Given the description of an element on the screen output the (x, y) to click on. 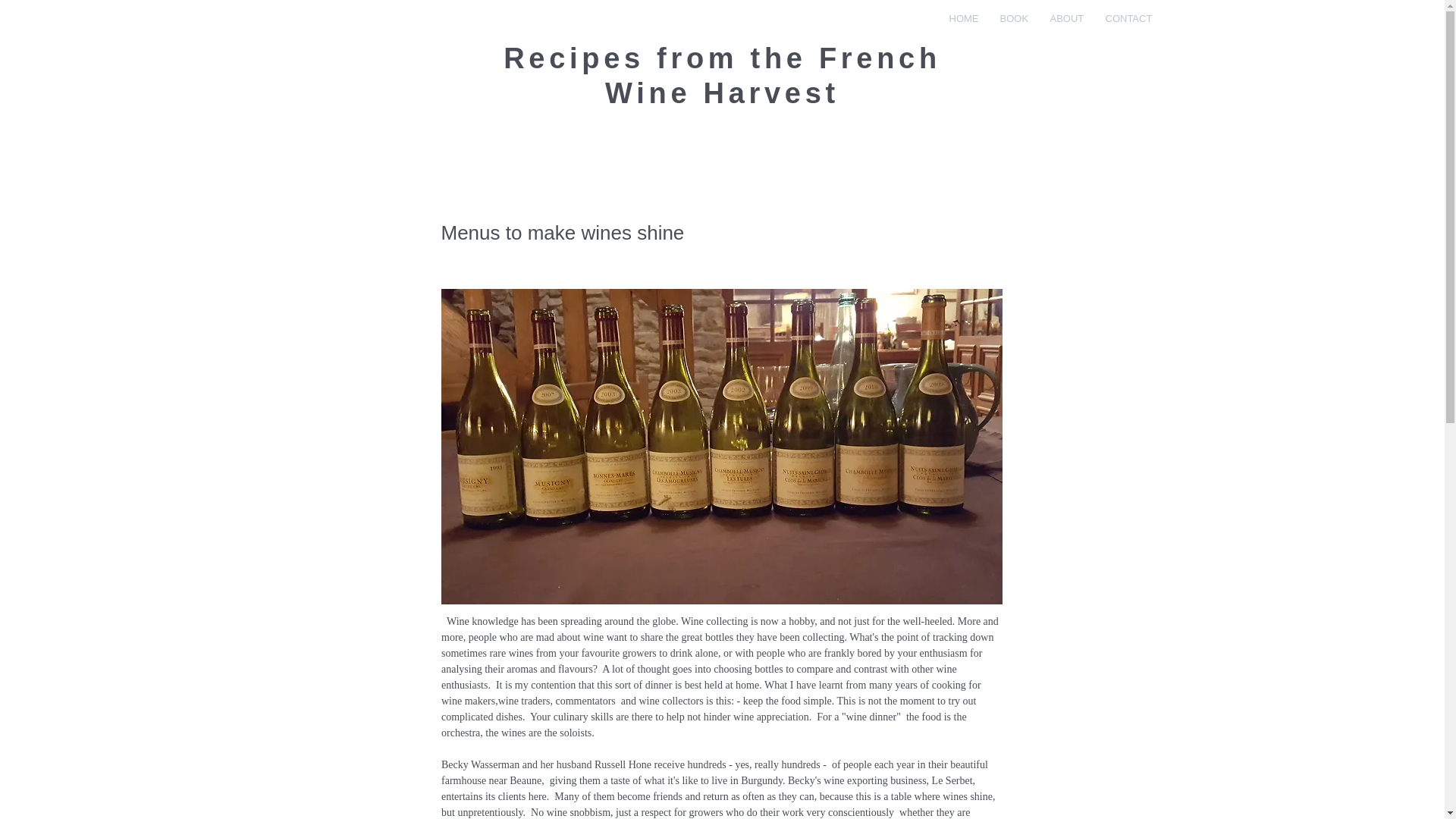
HOME (962, 18)
BOOK (1013, 18)
ABOUT (1066, 18)
CONTACT (1127, 18)
Recipes from the French Wine Harvest (721, 75)
